Given the description of an element on the screen output the (x, y) to click on. 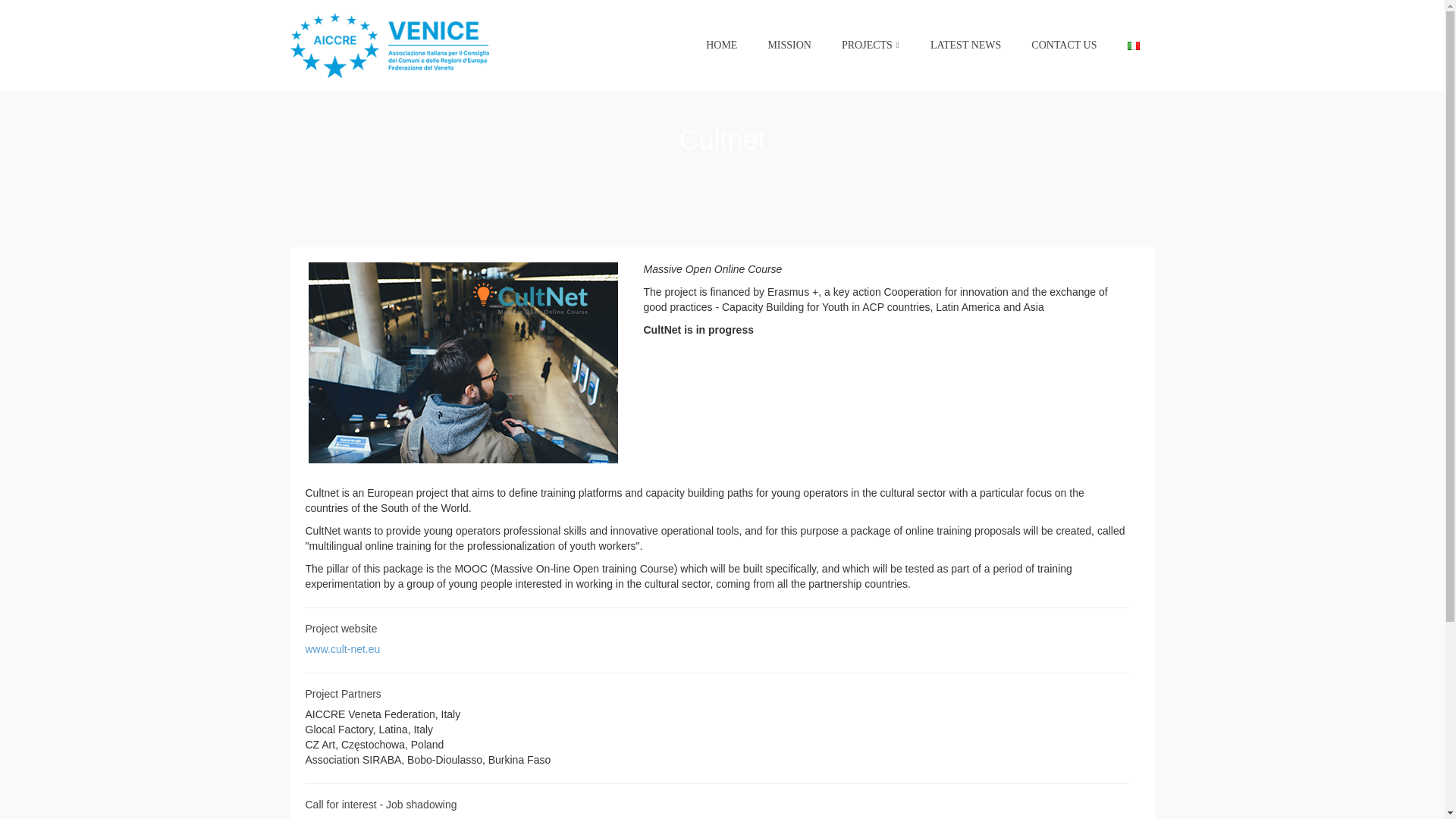
CONTACT US (1064, 45)
LATEST NEWS (965, 45)
PROJECTS (871, 45)
www.cult-net.eu (342, 648)
